Given the description of an element on the screen output the (x, y) to click on. 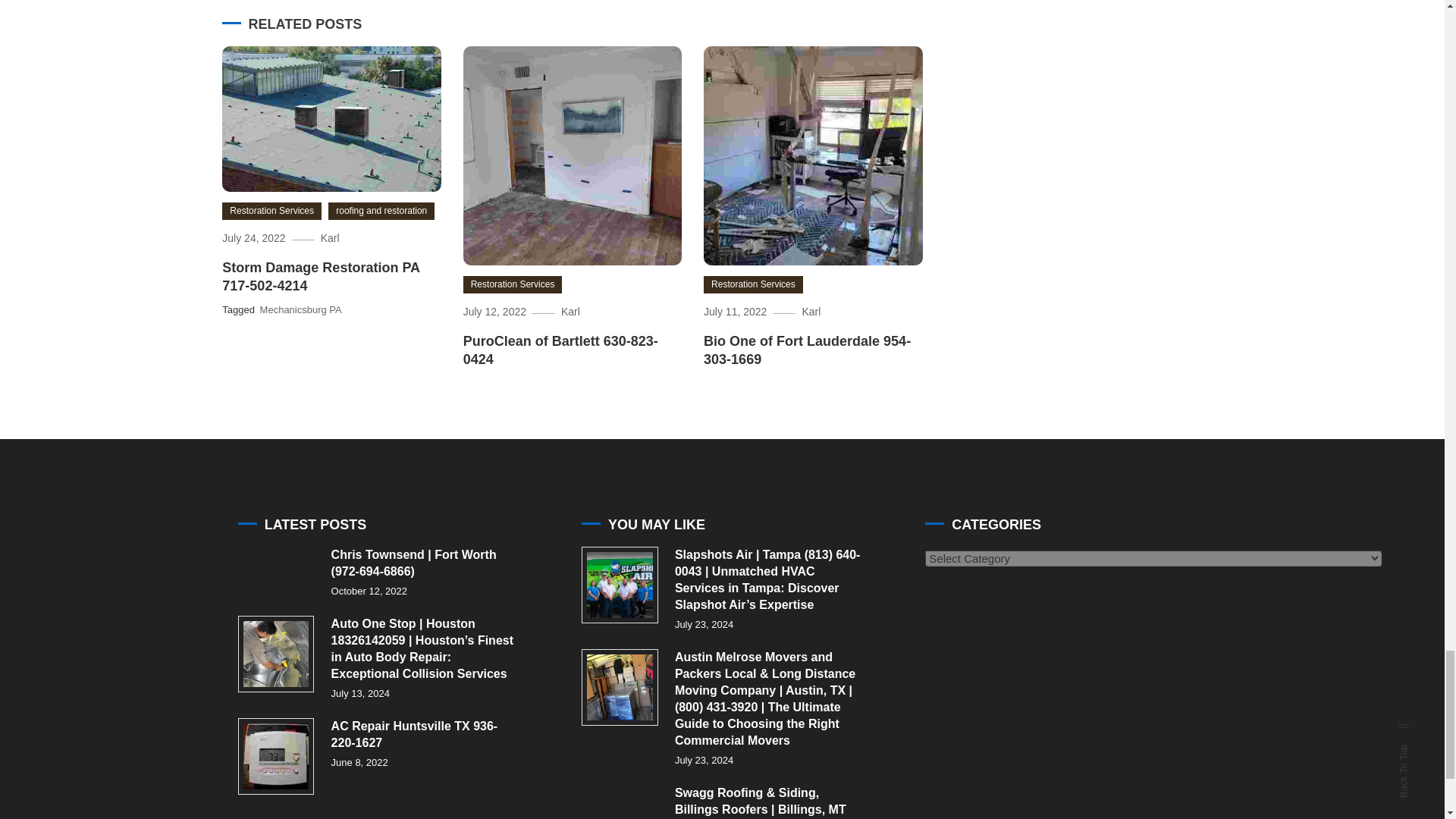
AC Repair Huntsville TX 936-220-1627 (276, 756)
